Given the description of an element on the screen output the (x, y) to click on. 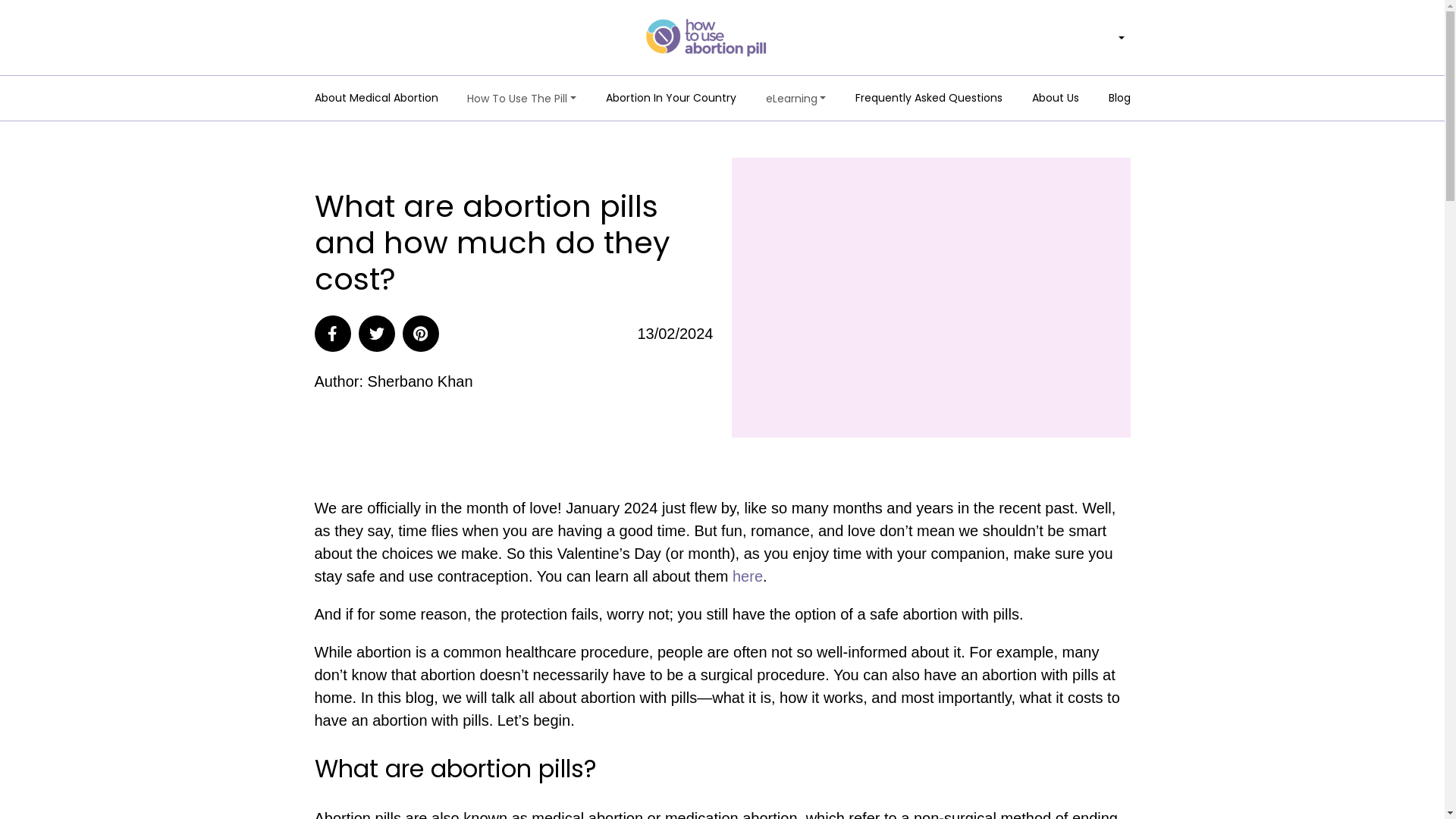
About Medical Abortion (376, 98)
Abortion In Your Country (670, 98)
Blog (1119, 98)
eLearning (796, 98)
About Us (1055, 98)
How To Use The Pill (521, 98)
here (747, 576)
Frequently Asked Questions (929, 98)
